Given the description of an element on the screen output the (x, y) to click on. 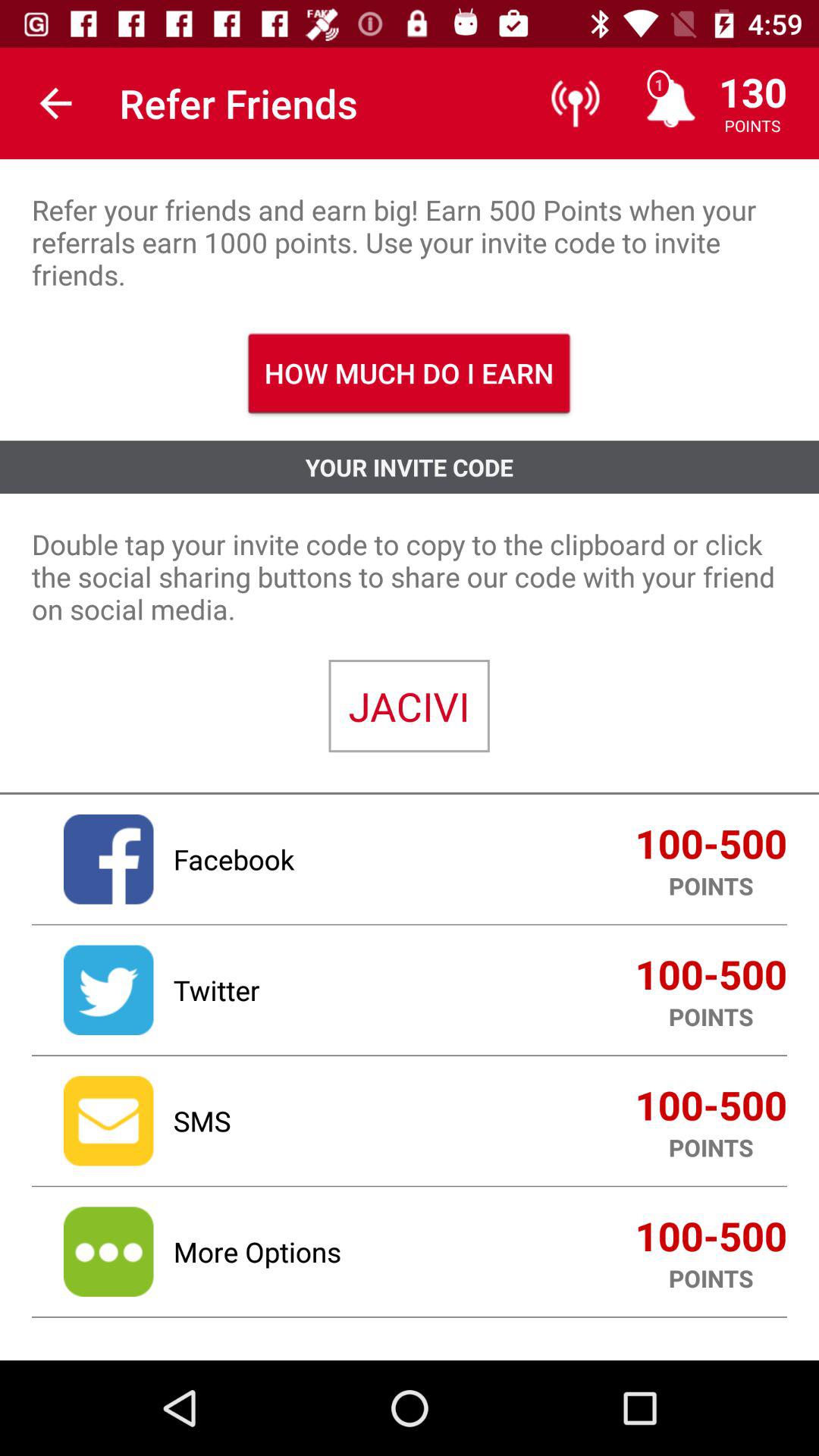
open the item above your invite code icon (408, 372)
